Given the description of an element on the screen output the (x, y) to click on. 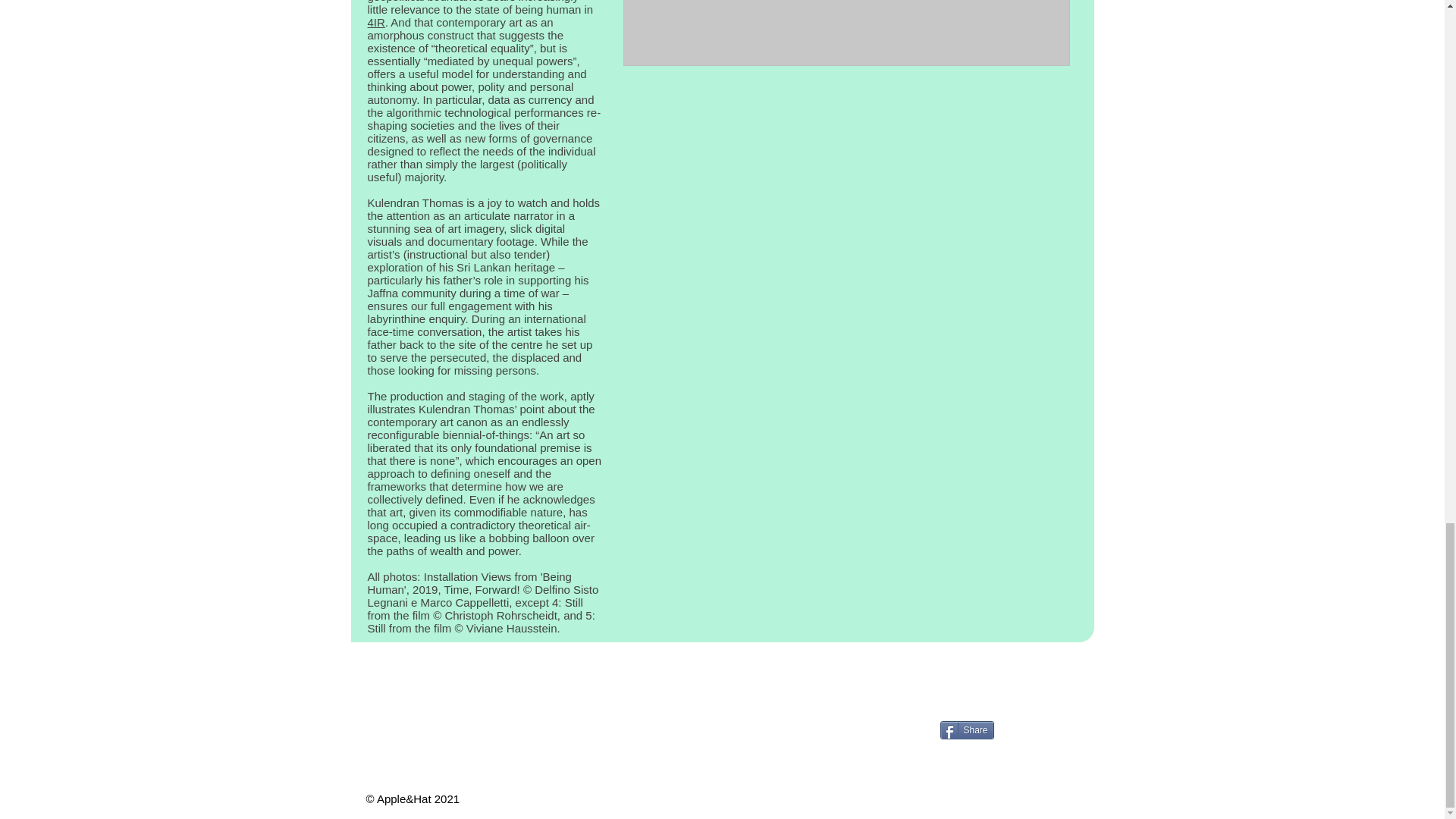
Share (967, 730)
4IR (375, 21)
Pin to Pinterest (1022, 729)
Share (967, 730)
VK Share (1056, 678)
Twitter Tweet (1076, 727)
